Given the description of an element on the screen output the (x, y) to click on. 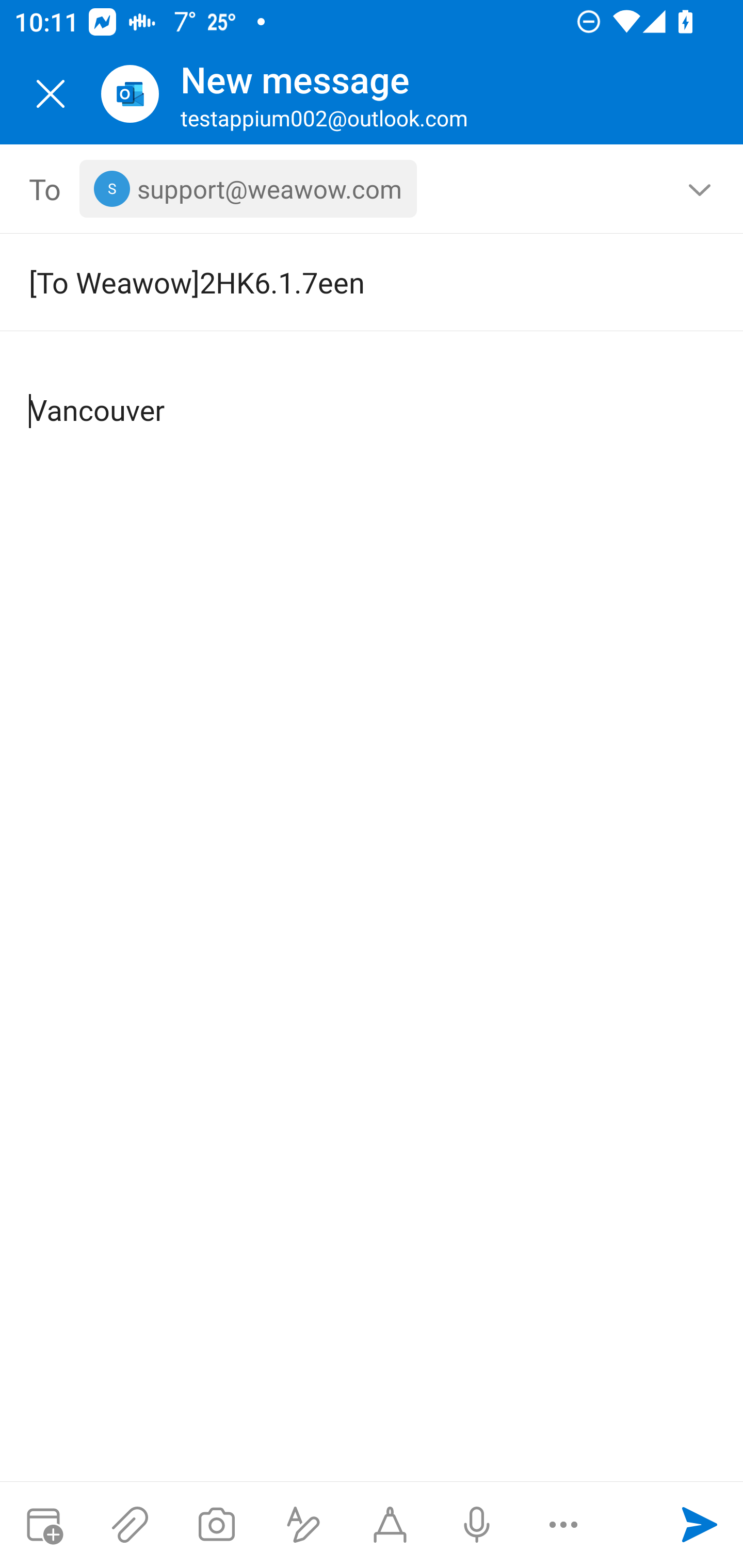
Close (50, 93)
[To Weawow]2HK6.1.7een (342, 281)

Vancouver (372, 394)
Attach meeting (43, 1524)
Attach files (129, 1524)
Take a photo (216, 1524)
Show formatting options (303, 1524)
Start Ink compose (389, 1524)
Dictation (476, 1524)
More options (563, 1524)
Send (699, 1524)
